Given the description of an element on the screen output the (x, y) to click on. 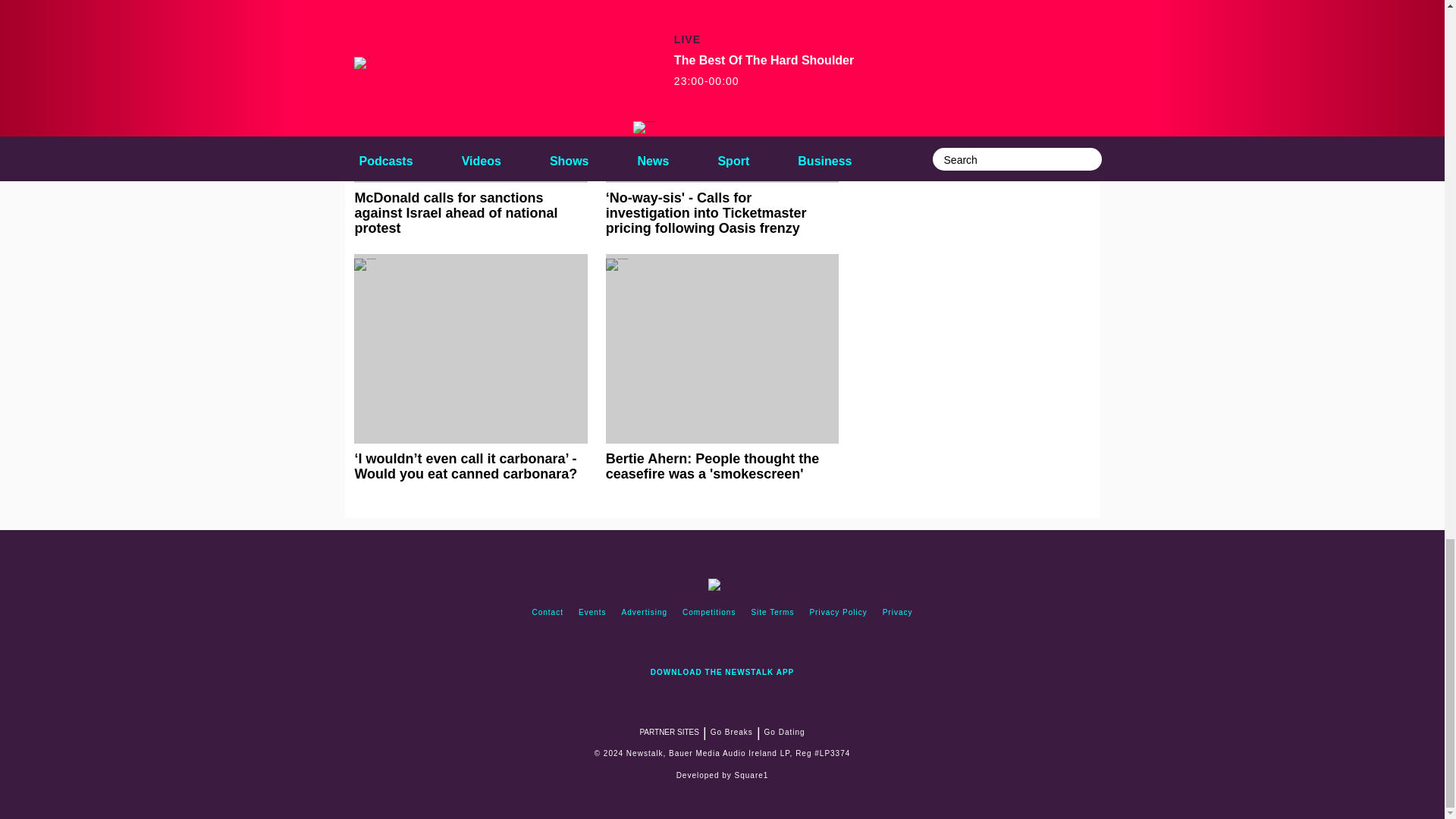
advertising (644, 612)
site terms (772, 612)
competitions (708, 612)
Privacy (897, 612)
events (592, 612)
contact (547, 612)
Privacy Policy (838, 612)
